Given the description of an element on the screen output the (x, y) to click on. 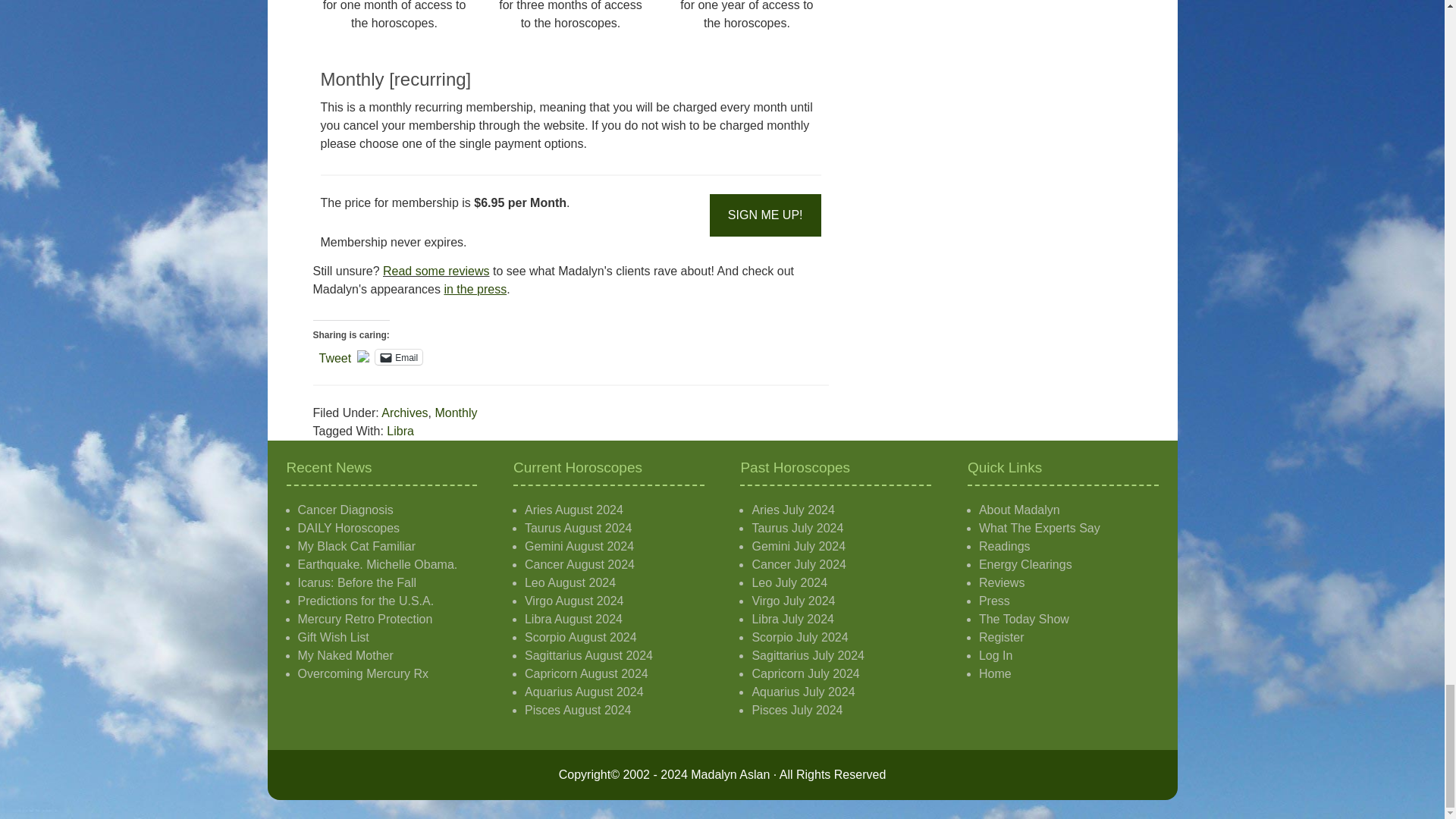
Permanent link to Cancer August 2024 (579, 563)
Permanent link to Leo August 2024 (569, 582)
Permanent link to Gift Wish List (332, 636)
Email (398, 356)
Permanent link to My Black Cat Familiar (355, 545)
Permanent link to Cancer Diagnosis (345, 509)
Tweet (334, 356)
Libra (400, 431)
Permanent link to Aries August 2024 (573, 509)
Permanent link to My Naked Mother (345, 655)
